Given the description of an element on the screen output the (x, y) to click on. 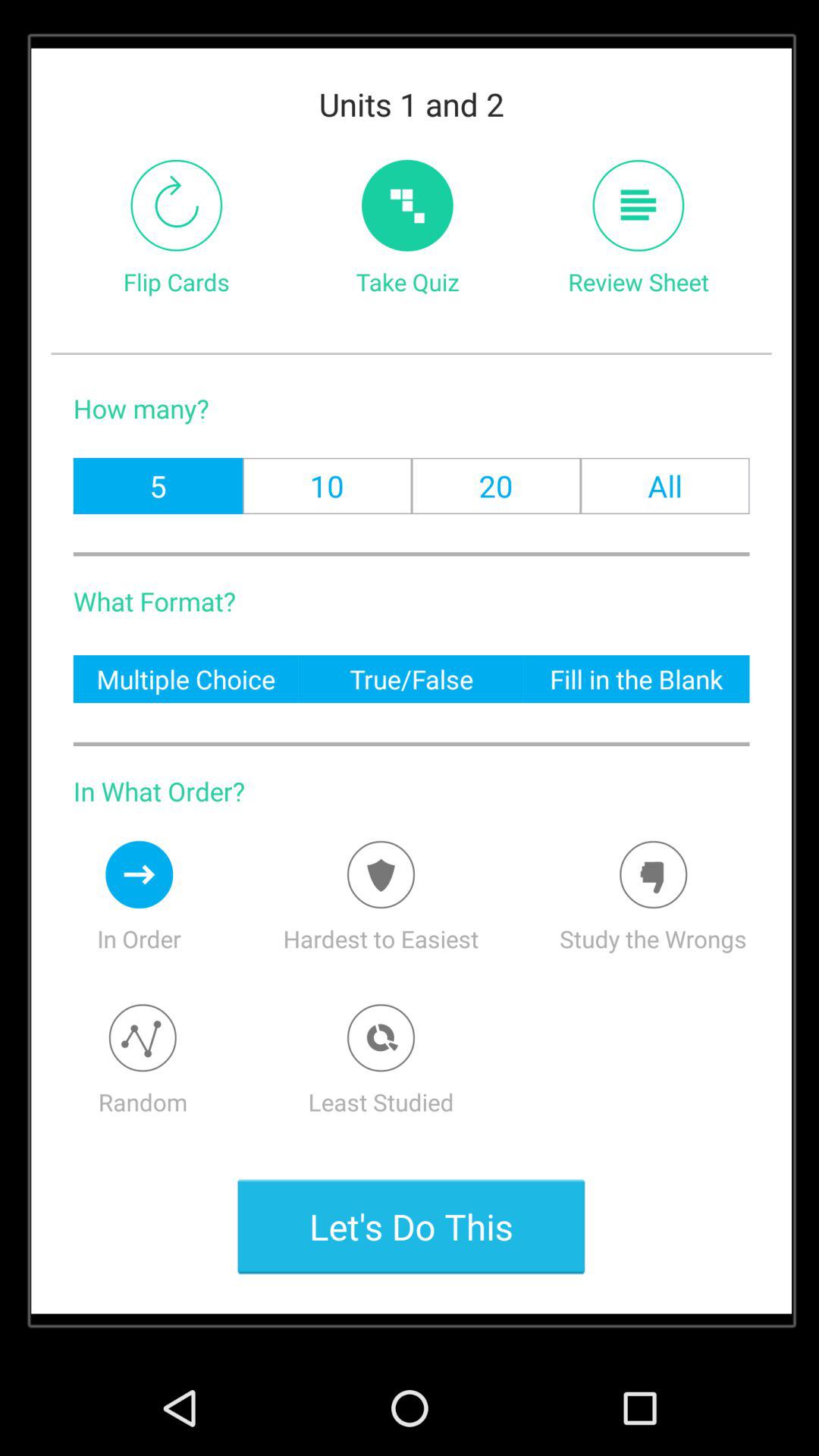
press item to the right of the multiple choice (410, 678)
